Given the description of an element on the screen output the (x, y) to click on. 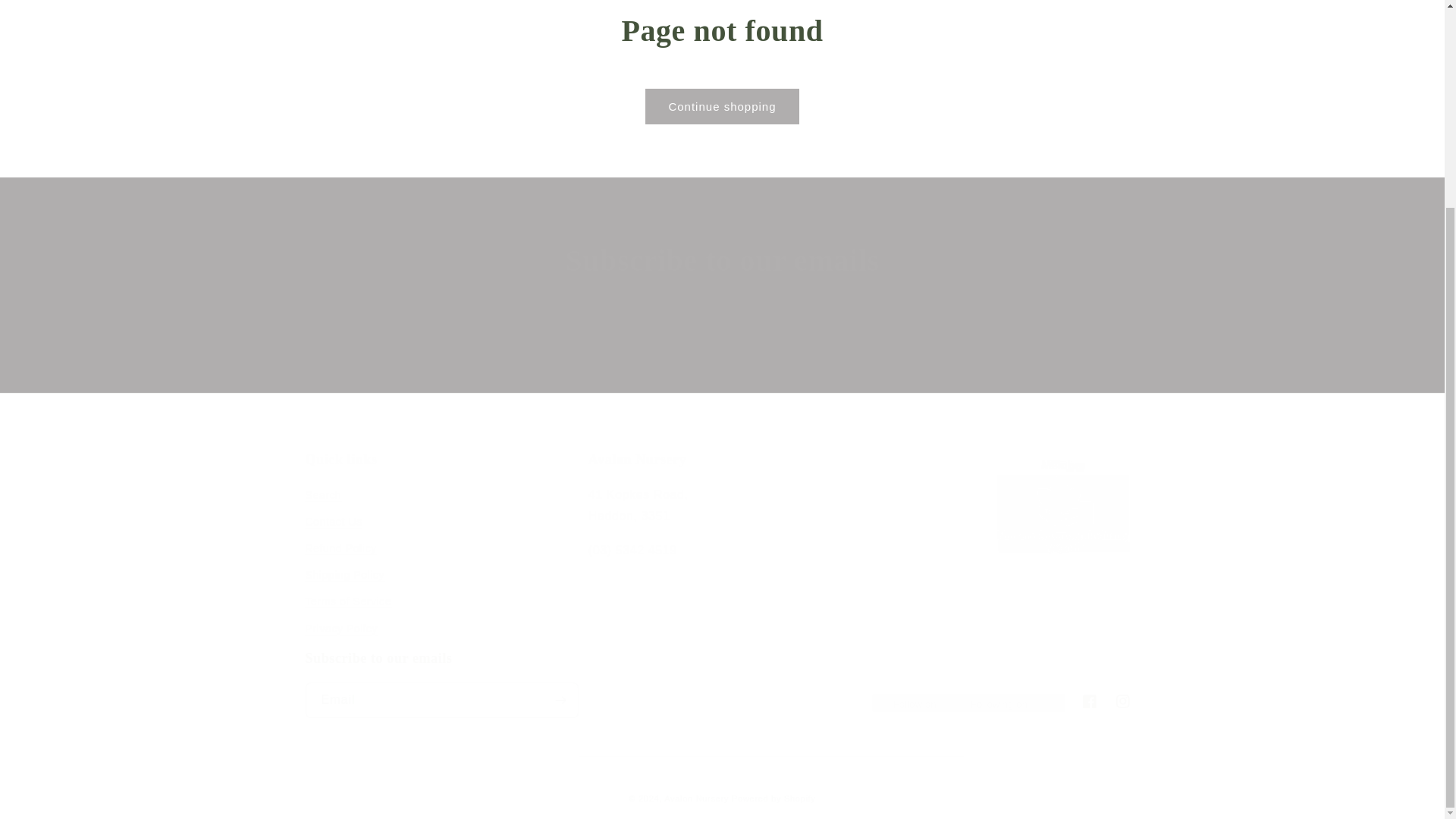
Subscribe to our emails (721, 260)
Email (722, 350)
